Given the description of an element on the screen output the (x, y) to click on. 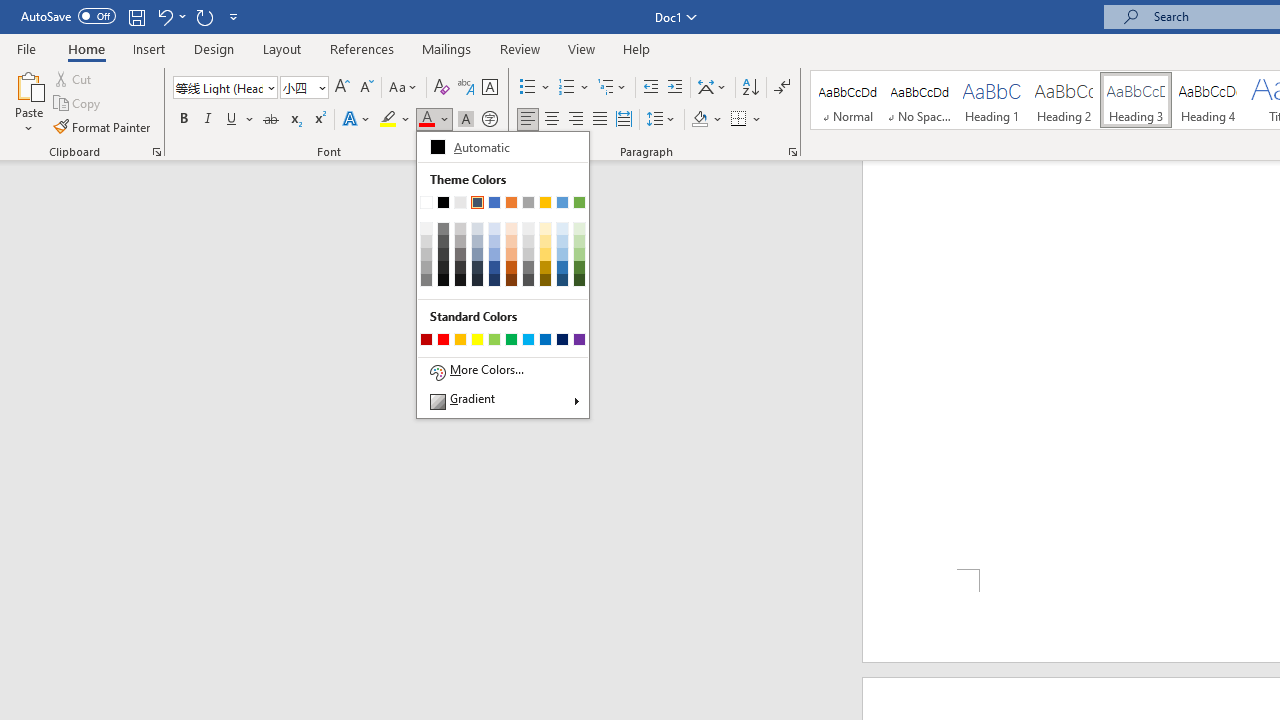
Superscript (319, 119)
Home (86, 48)
Font Color (434, 119)
Insert (149, 48)
Heading 1 (991, 100)
